Given the description of an element on the screen output the (x, y) to click on. 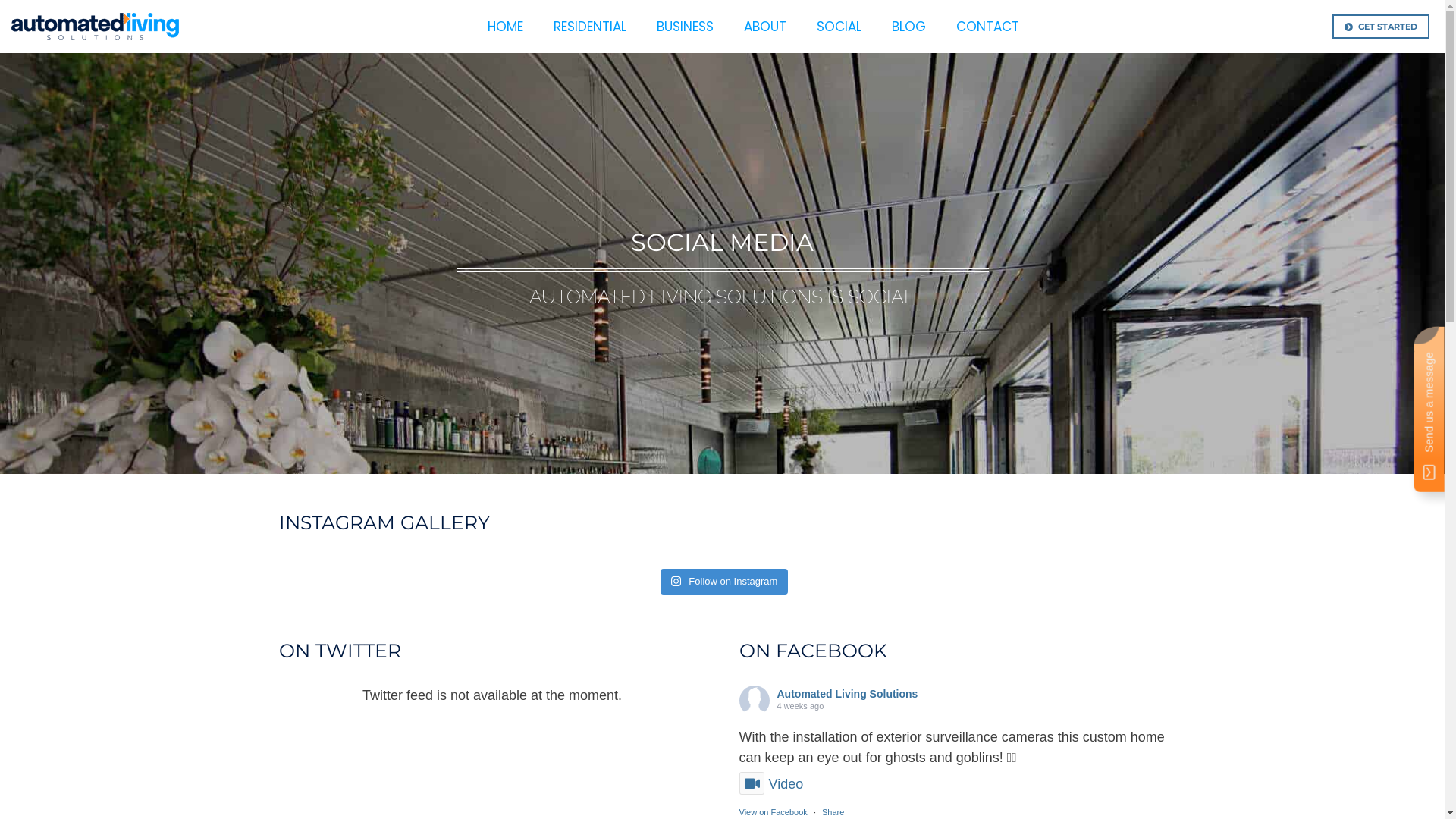
Automated Living Solutions Element type: text (846, 693)
Follow on Instagram Element type: text (724, 581)
SOCIAL Element type: text (839, 26)
GET STARTED Element type: text (1380, 26)
BUSINESS Element type: text (685, 26)
CONTACT Element type: text (987, 26)
RESIDENTIAL Element type: text (589, 26)
ABOUT Element type: text (764, 26)
Share Element type: text (833, 810)
BLOG Element type: text (908, 26)
Video Element type: text (770, 783)
HOME Element type: text (505, 26)
View on Facebook Element type: text (772, 810)
